Given the description of an element on the screen output the (x, y) to click on. 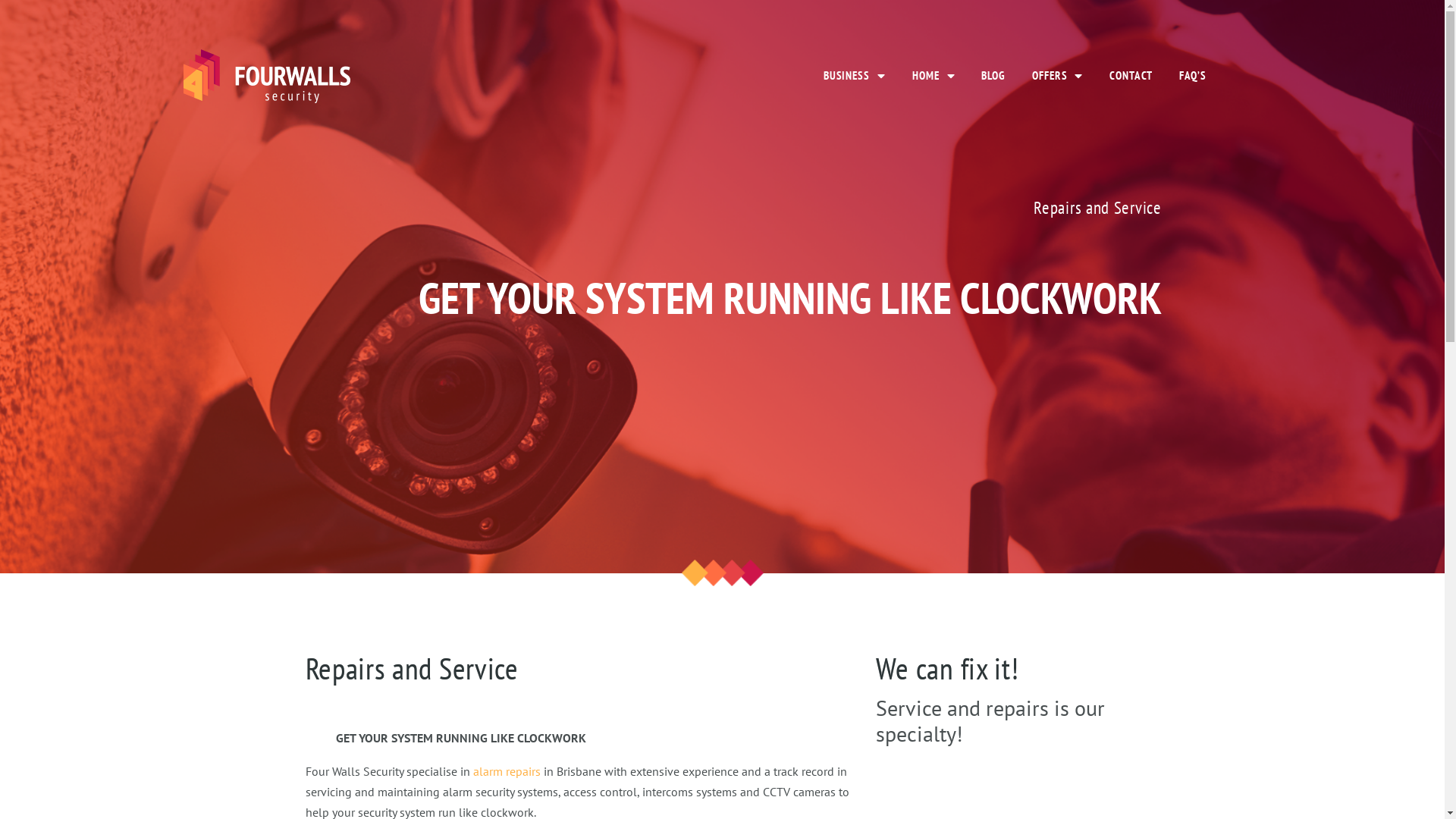
CONTACT Element type: text (1130, 75)
alarm repairs Element type: text (506, 770)
OFFERS Element type: text (1057, 75)
BUSINESS Element type: text (854, 75)
BLOG Element type: text (993, 75)
HOME Element type: text (933, 75)
